Given the description of an element on the screen output the (x, y) to click on. 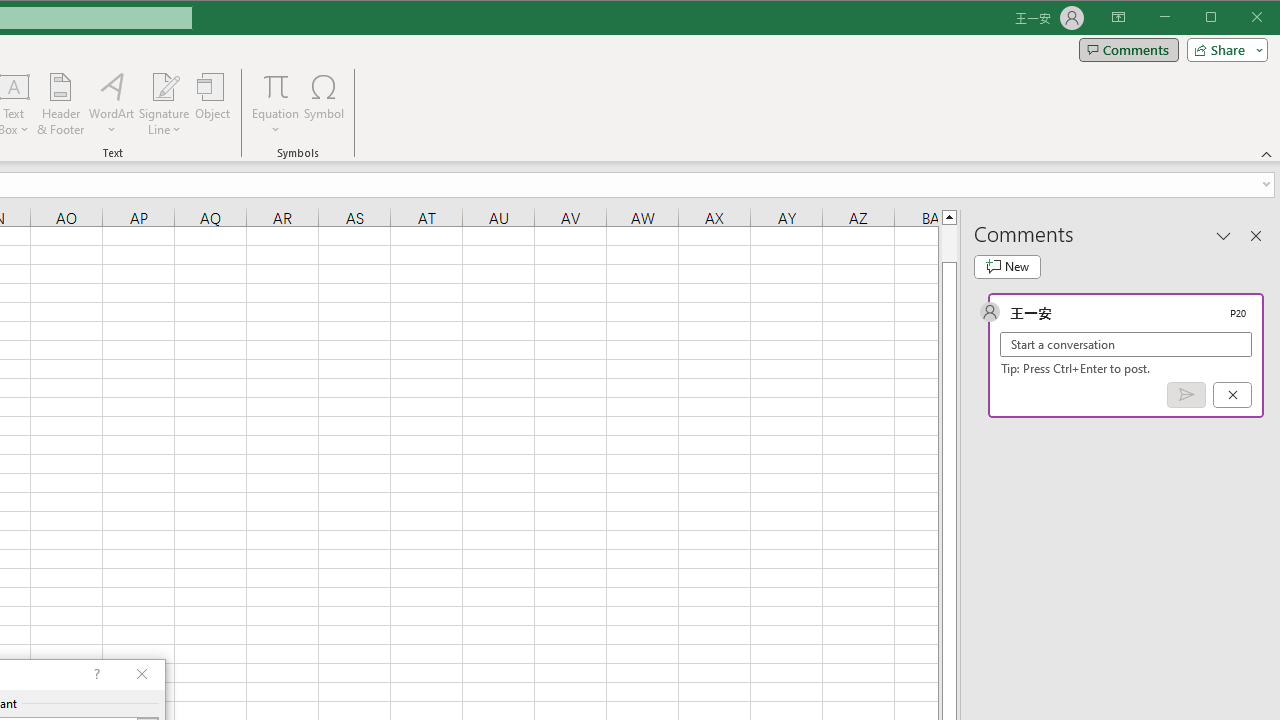
Equation (275, 104)
Signature Line (164, 104)
Start a conversation (1126, 344)
WordArt (111, 104)
Signature Line (164, 86)
Post comment (Ctrl + Enter) (1186, 395)
